Given the description of an element on the screen output the (x, y) to click on. 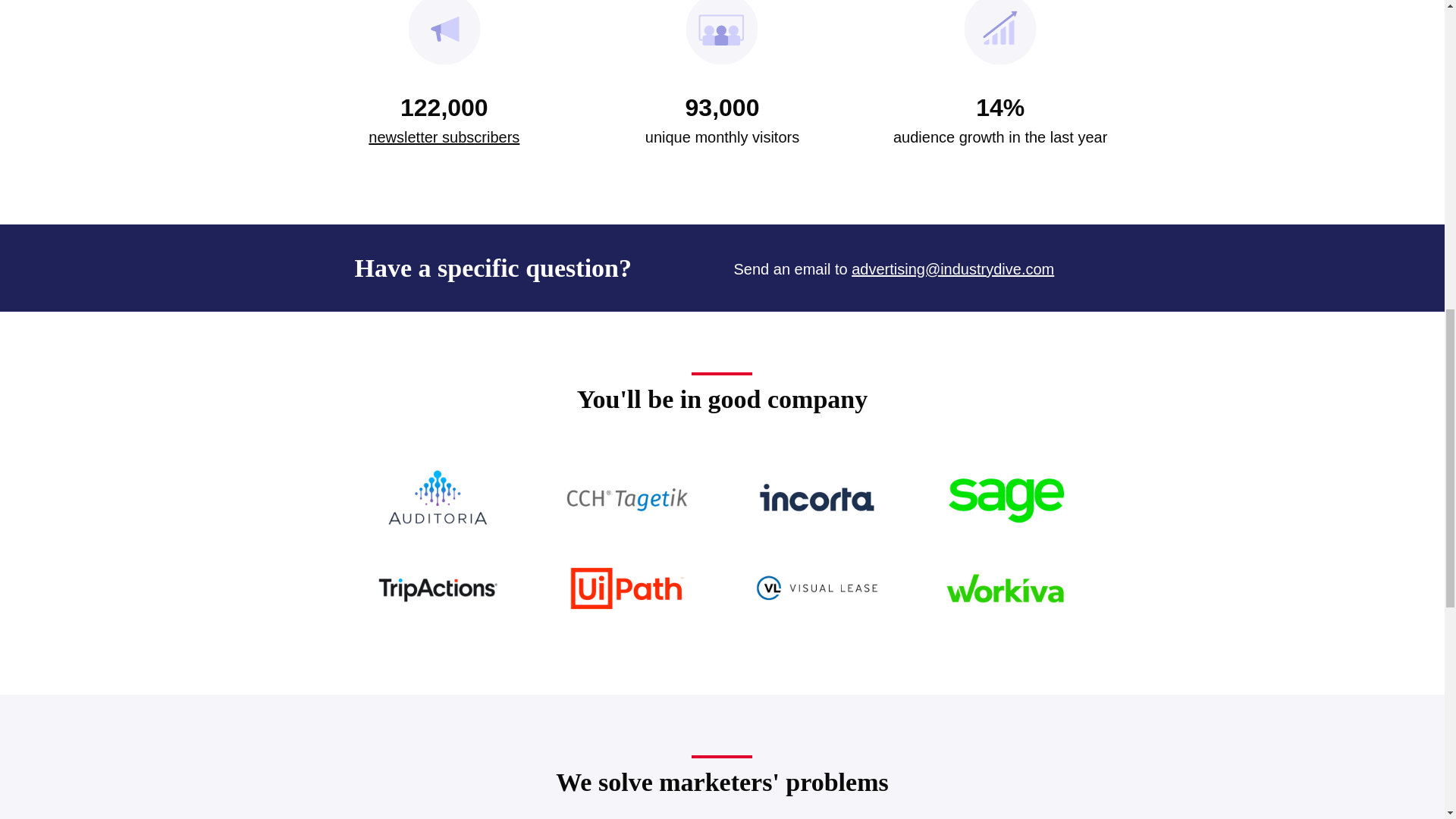
Incorta (816, 497)
UiPath (627, 587)
Sage (1005, 497)
CCH Tagetik (627, 497)
Auditoria (437, 497)
newsletter subscribers (443, 136)
TripActions (437, 587)
Visual Lease (816, 587)
Workiva (1005, 587)
